Given the description of an element on the screen output the (x, y) to click on. 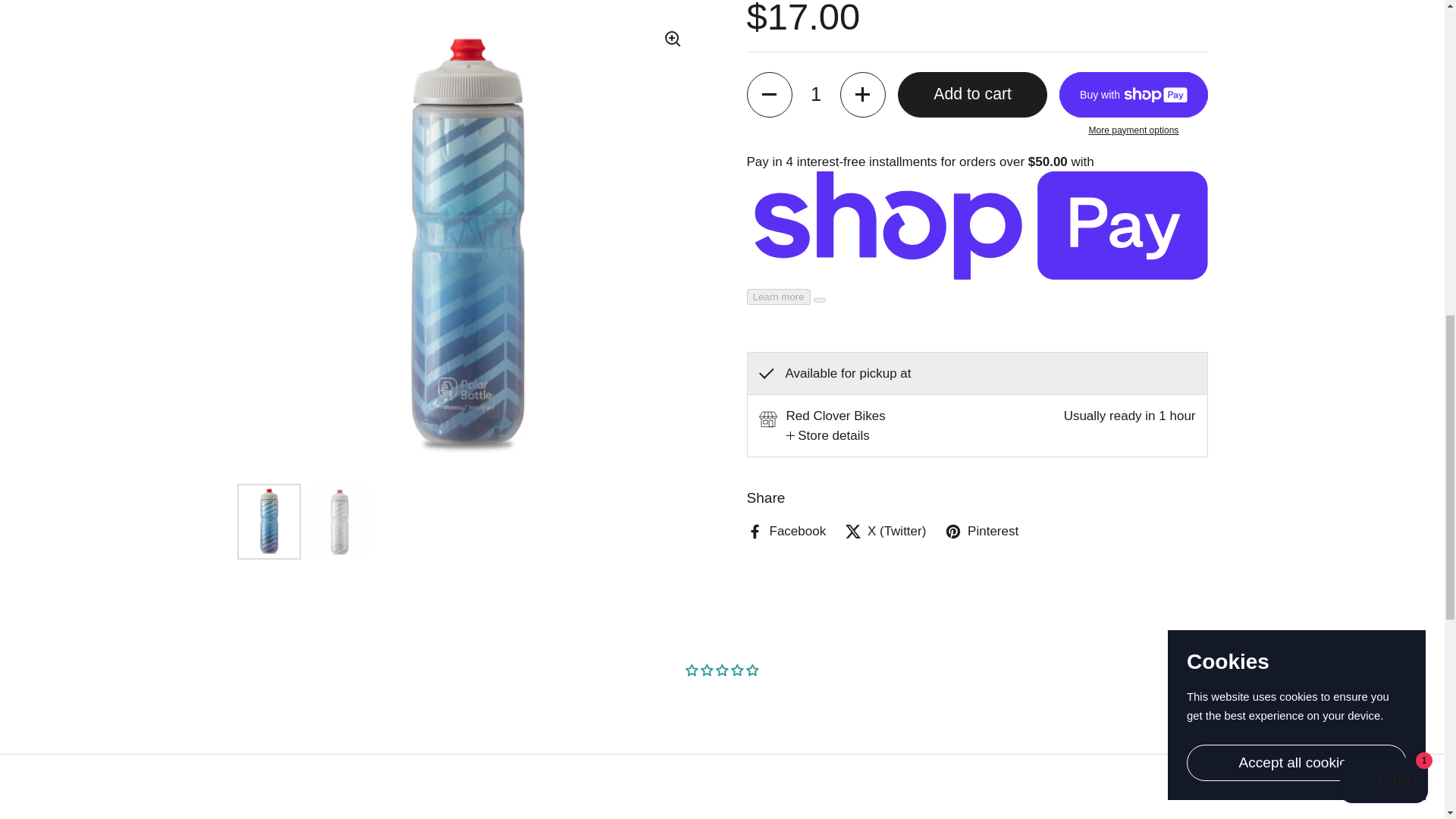
1 (815, 94)
